Given the description of an element on the screen output the (x, y) to click on. 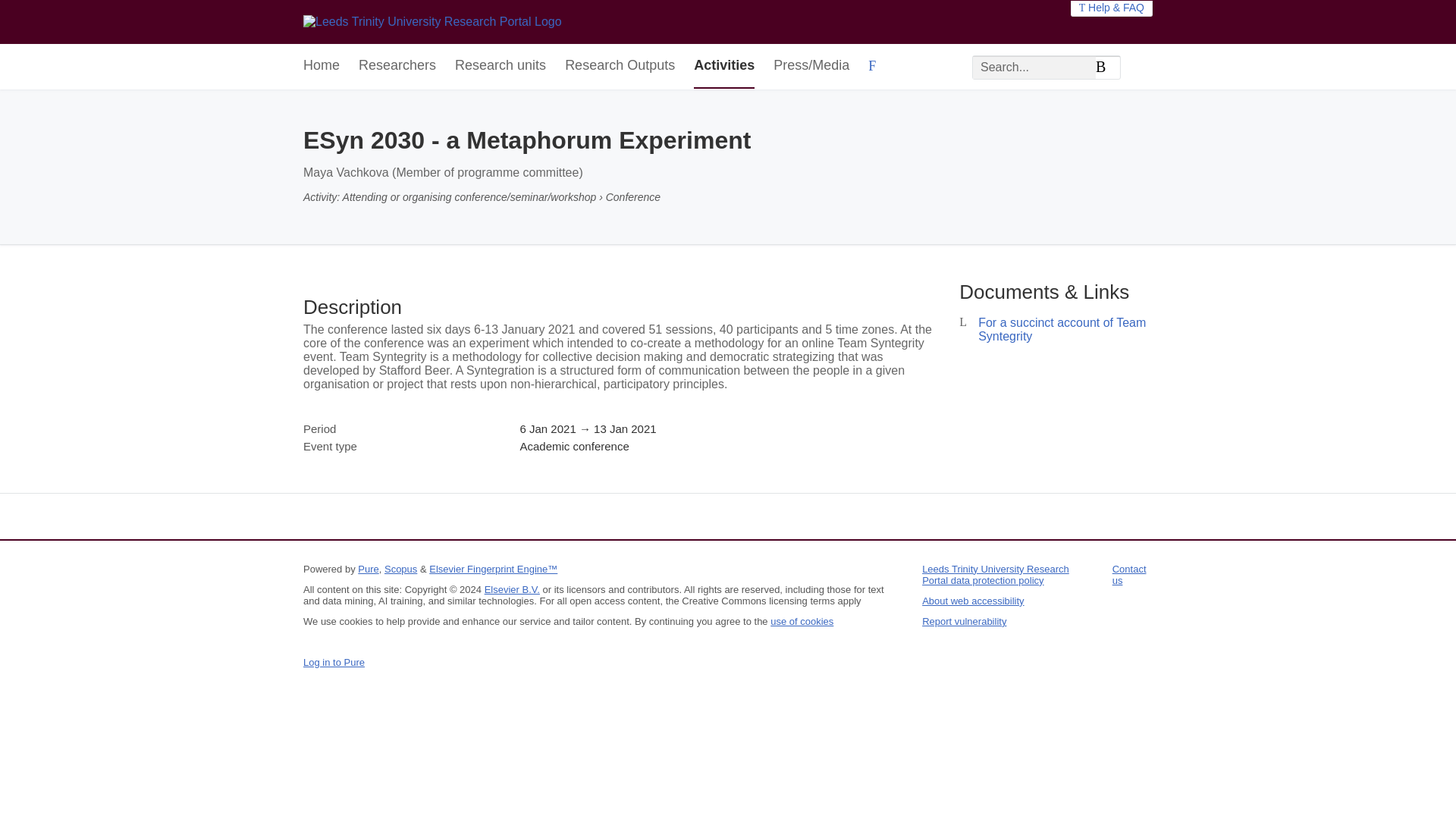
Log in to Pure (333, 662)
Leeds Trinity University Research Portal Home (432, 21)
Pure (368, 568)
For a succinct account of Team Syntegrity (1061, 329)
About web accessibility (972, 600)
Researchers (396, 66)
use of cookies (801, 621)
Scopus (400, 568)
Research units (500, 66)
Elsevier B.V. (512, 589)
Research Outputs (619, 66)
Activities (724, 66)
Contact us (1129, 574)
